Given the description of an element on the screen output the (x, y) to click on. 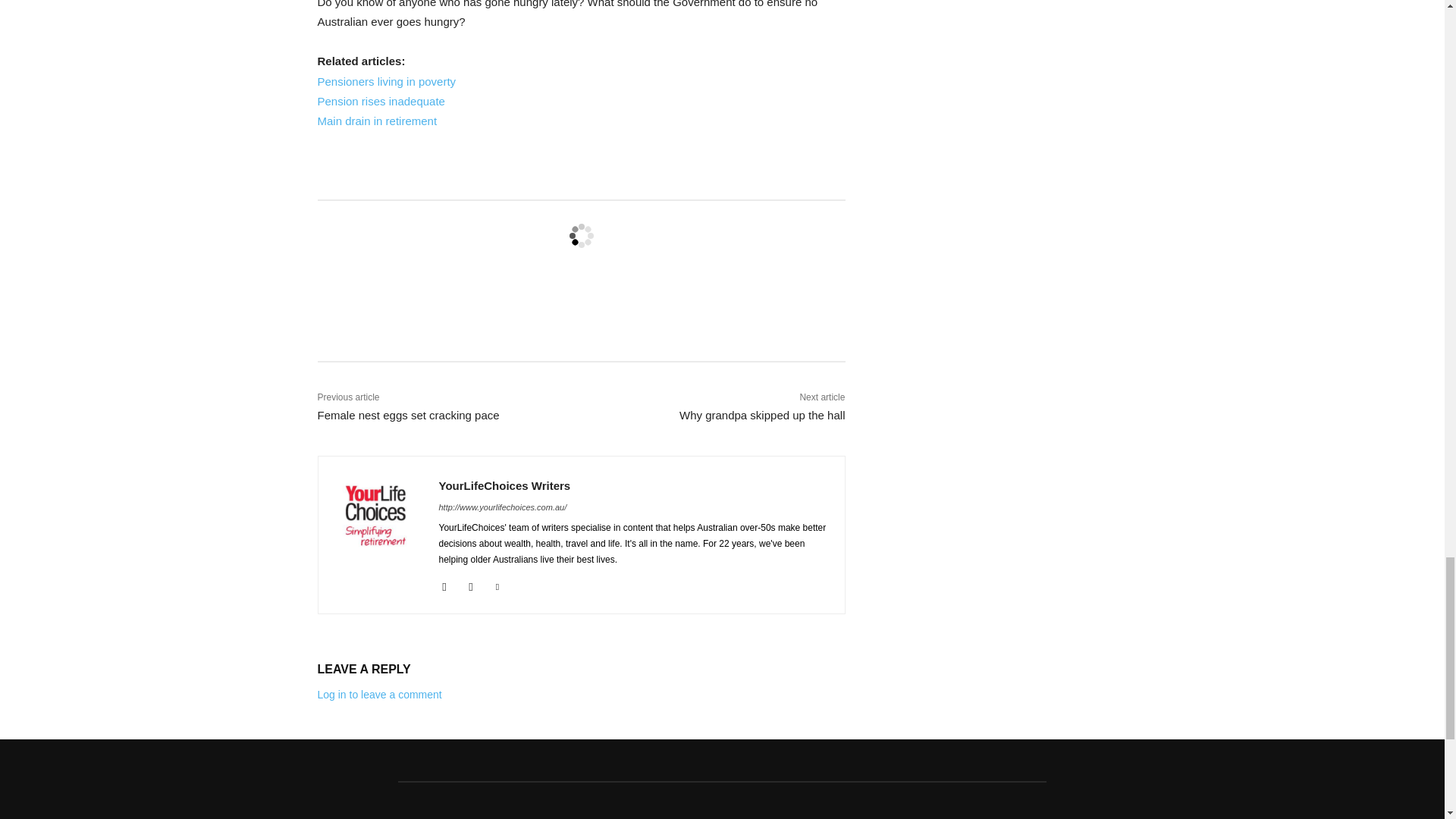
Linkedin (497, 583)
Instagram (471, 583)
Facebook (443, 583)
